Given the description of an element on the screen output the (x, y) to click on. 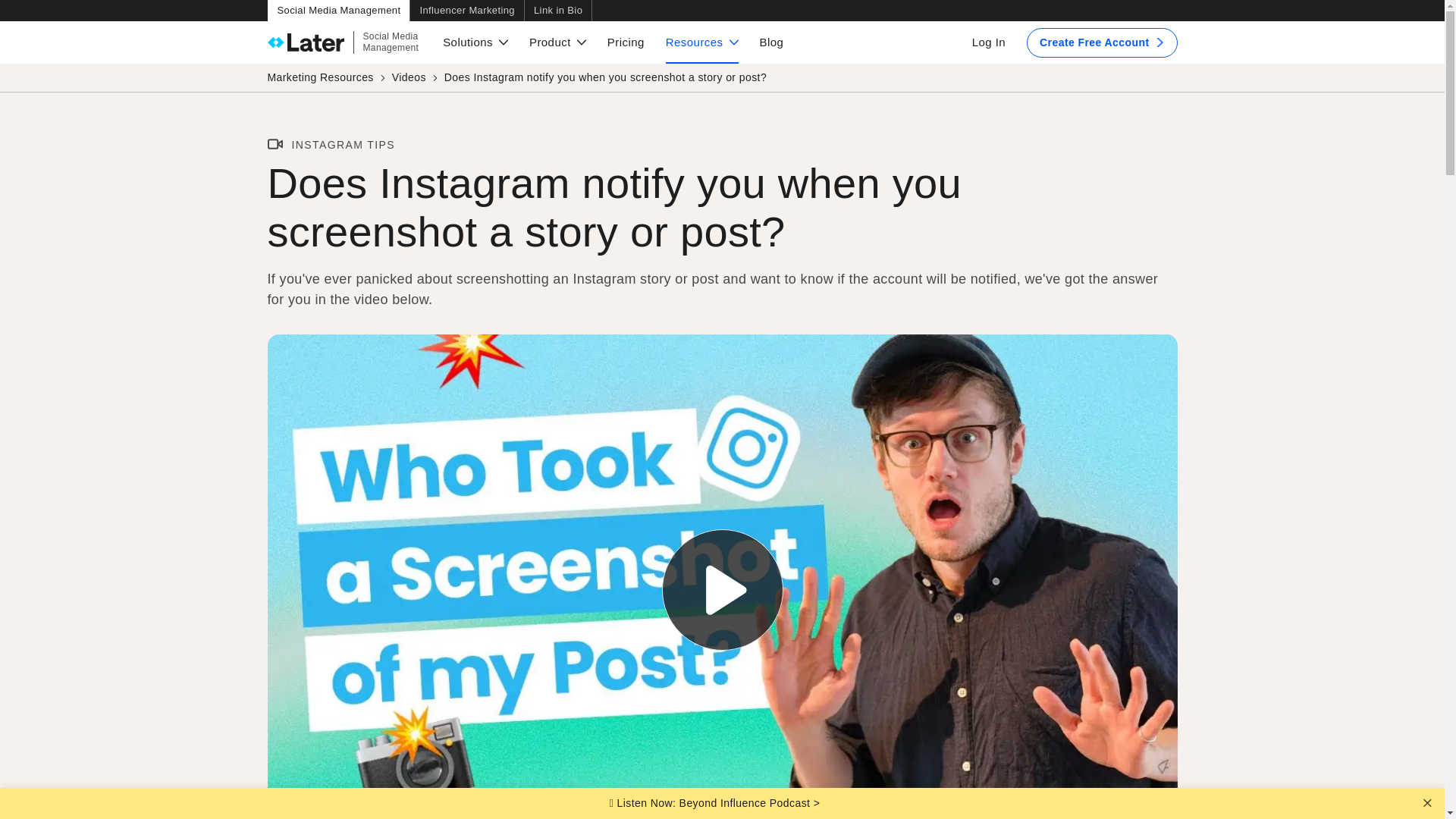
Link in Bio (558, 10)
Solutions (474, 42)
Social Media Management (337, 10)
Product (557, 42)
Pricing (625, 42)
Influencer Marketing (466, 10)
